Given the description of an element on the screen output the (x, y) to click on. 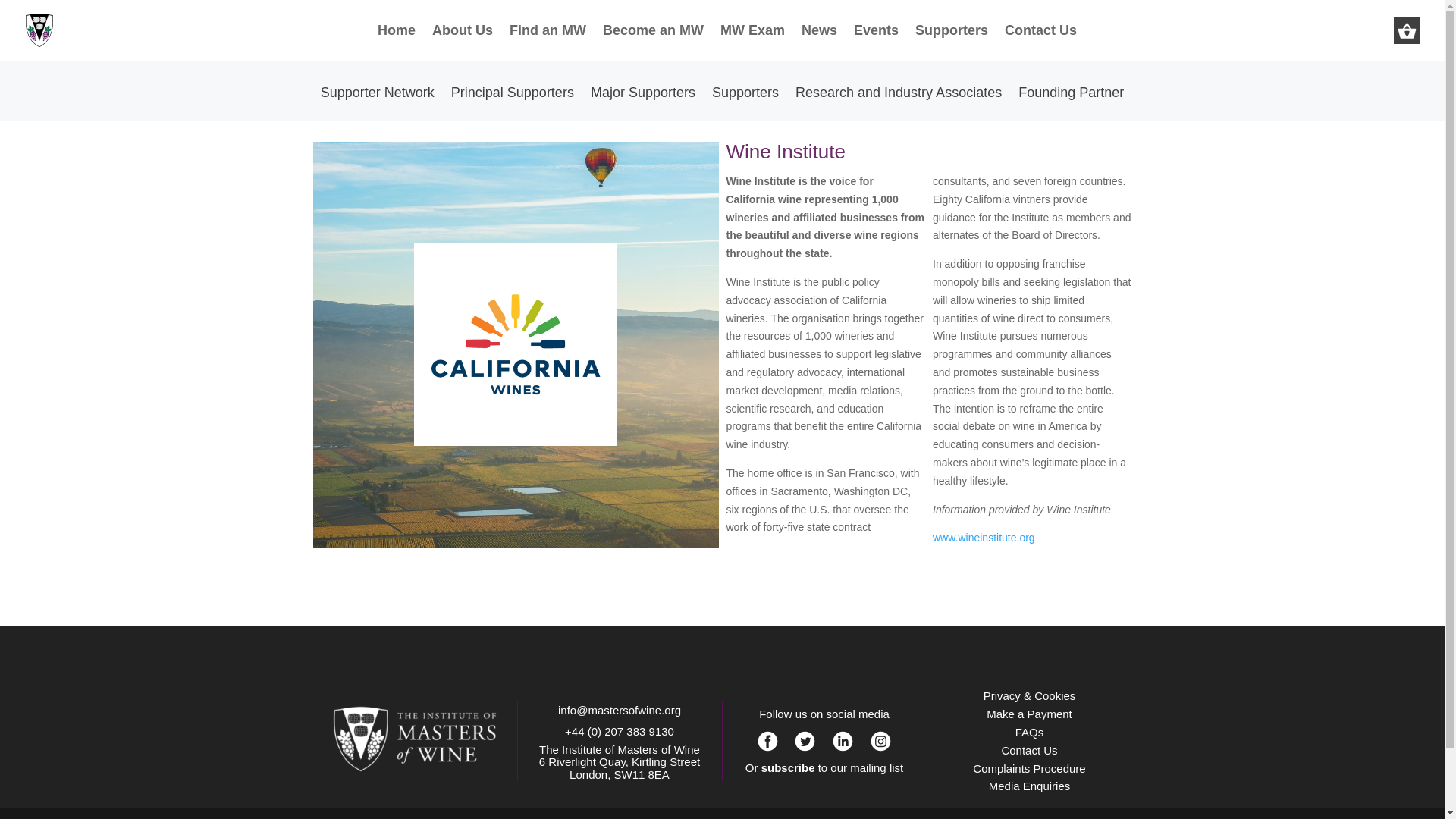
Principal Supporters (512, 103)
Events (875, 42)
Home (395, 42)
Find an MW (547, 42)
About Us (462, 42)
News (819, 42)
Supporter Network (376, 103)
Contact Us (1040, 42)
Become an MW (652, 42)
MW Exam (752, 42)
